Given the description of an element on the screen output the (x, y) to click on. 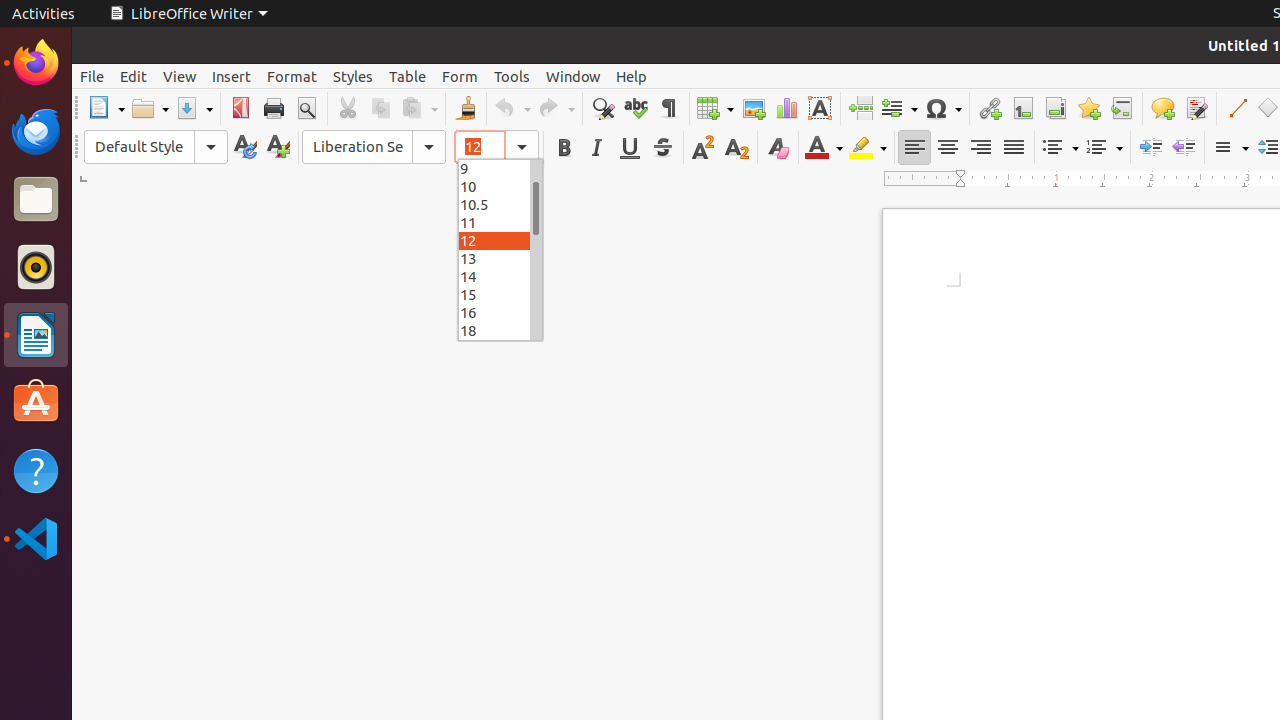
Bold Element type: toggle-button (563, 147)
15 Element type: list-item (500, 294)
Superscript Element type: toggle-button (703, 147)
Font Name Element type: combo-box (374, 147)
Font Color Element type: push-button (824, 147)
